Given the description of an element on the screen output the (x, y) to click on. 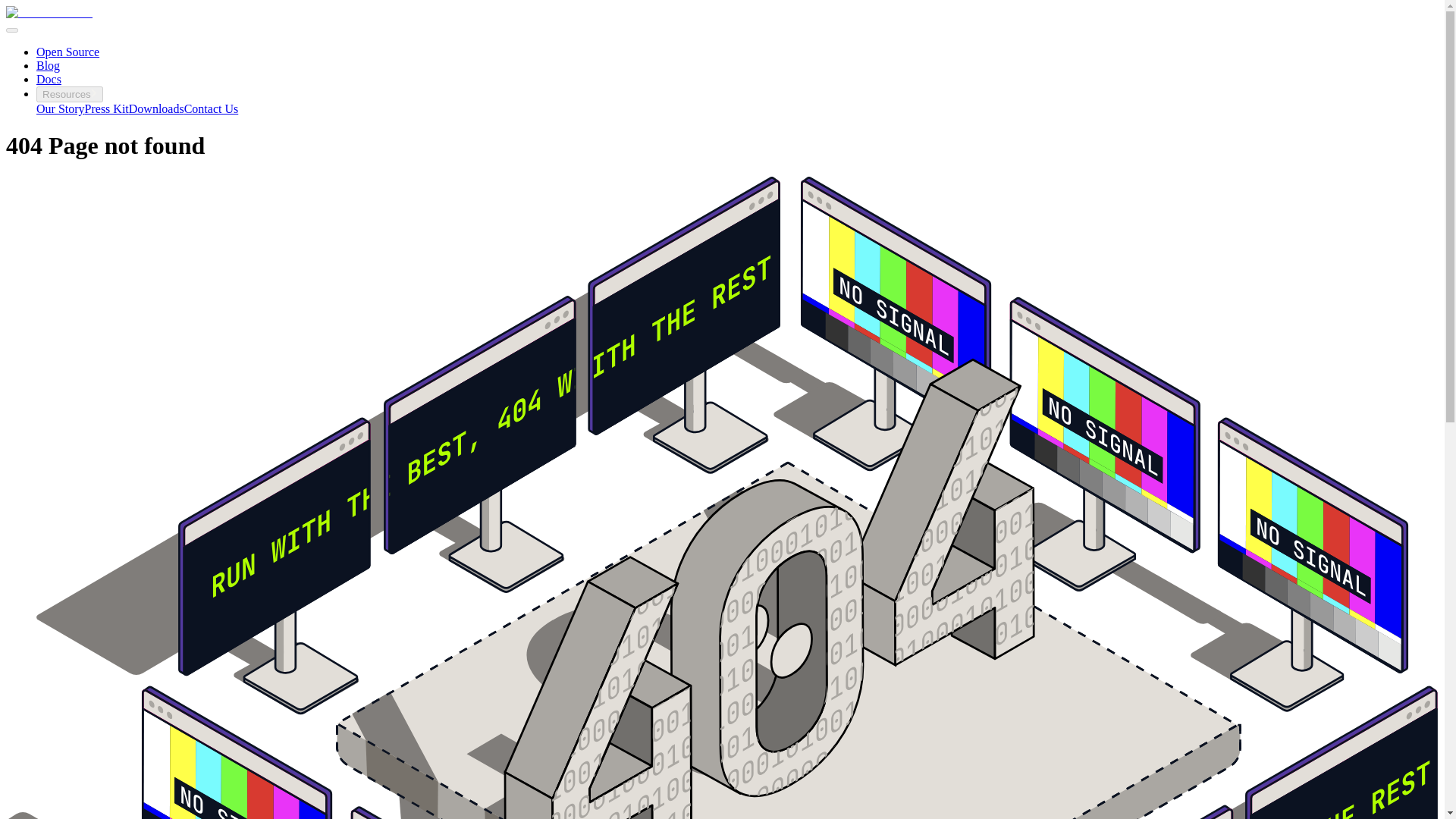
Open Source (67, 51)
Press Kit (106, 108)
Downloads (156, 108)
Contact Us (211, 108)
Our Story (60, 108)
Resources (69, 94)
Docs (48, 78)
Blog (47, 65)
